Given the description of an element on the screen output the (x, y) to click on. 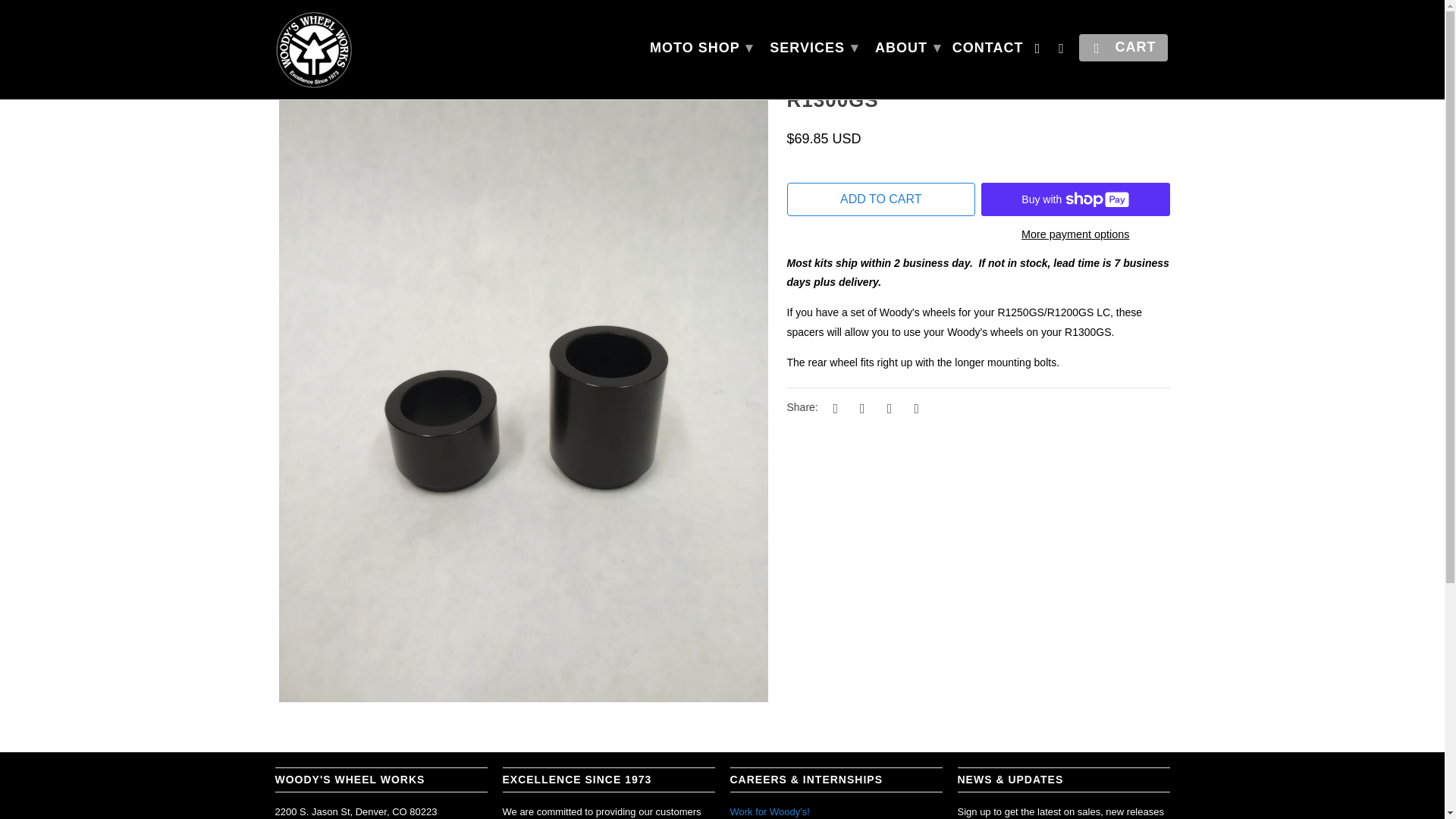
WoodysWheelWorks (288, 24)
WoodysWheelWorks (380, 49)
Email this to a friend (914, 407)
Share this on Pinterest (887, 407)
Home (288, 24)
Share this on Twitter (833, 407)
Products (339, 24)
Share this on Facebook (859, 407)
